Given the description of an element on the screen output the (x, y) to click on. 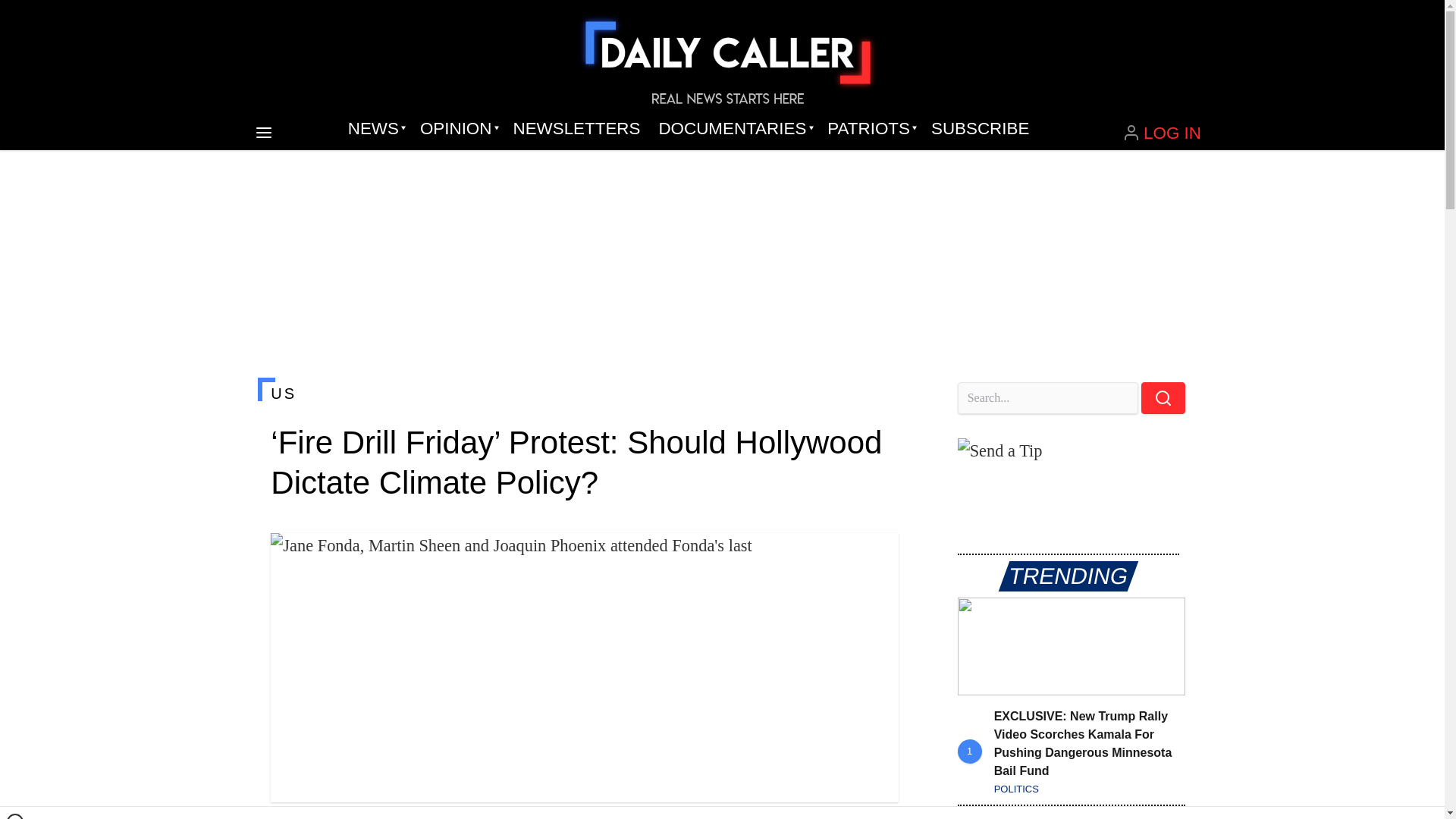
PATRIOTS (869, 128)
DOCUMENTARIES (733, 128)
NEWS (374, 128)
OPINION (456, 128)
Close window (14, 816)
NEWSLETTERS (576, 128)
SUBSCRIBE (979, 128)
Toggle fullscreen (874, 556)
US (584, 393)
